Given the description of an element on the screen output the (x, y) to click on. 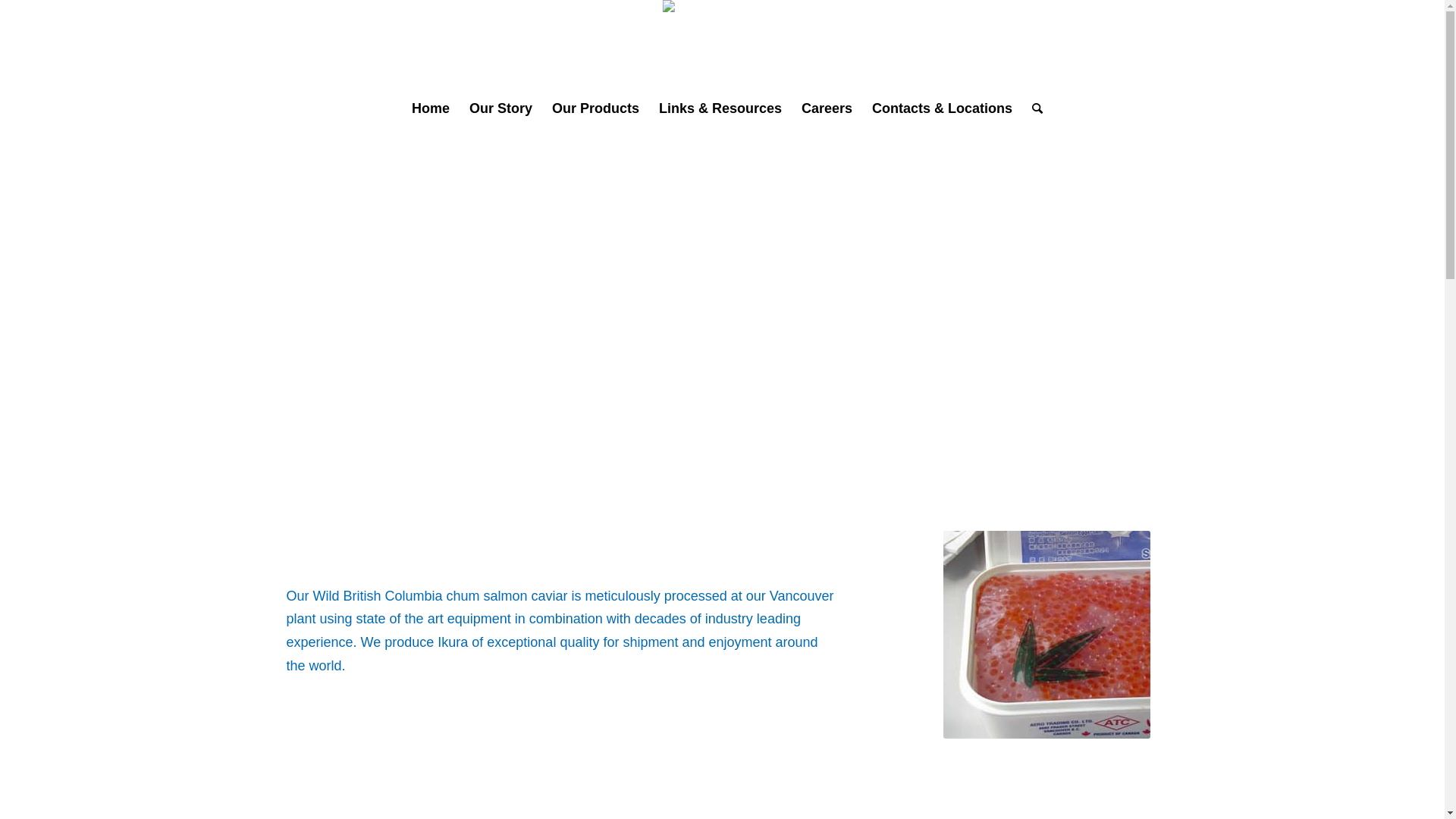
Home Element type: text (430, 108)
ikura body Element type: hover (1046, 634)
Our Products Element type: text (595, 108)
Links & Resources Element type: text (720, 108)
Contacts & Locations Element type: text (942, 108)
Aero Trading Co- Logo Element type: hover (722, 20)
Aero Trading Co- Logo Element type: hover (722, 44)
Careers Element type: text (826, 108)
Our Story Element type: text (500, 108)
